Given the description of an element on the screen output the (x, y) to click on. 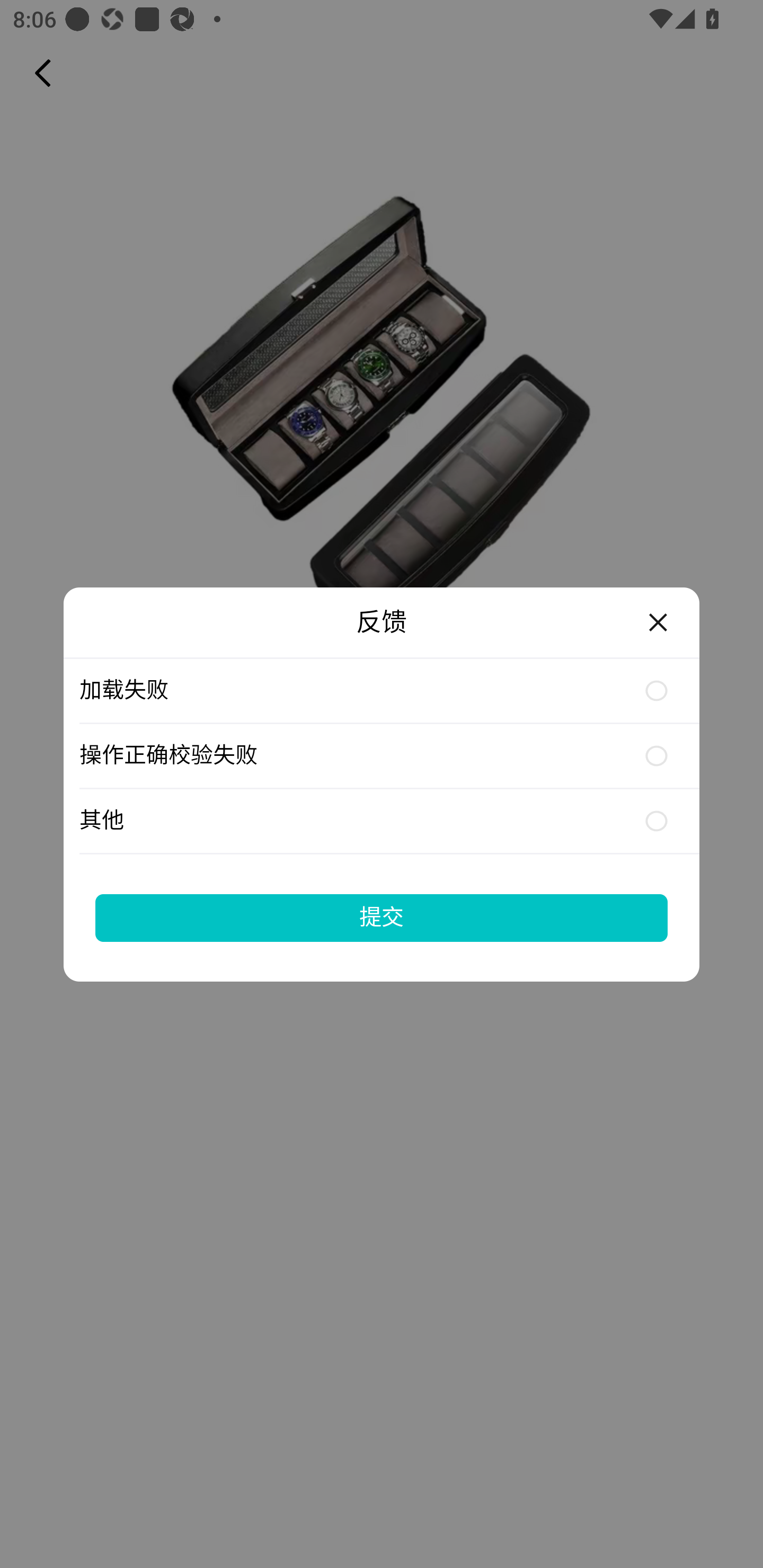
提交 (381, 917)
